Given the description of an element on the screen output the (x, y) to click on. 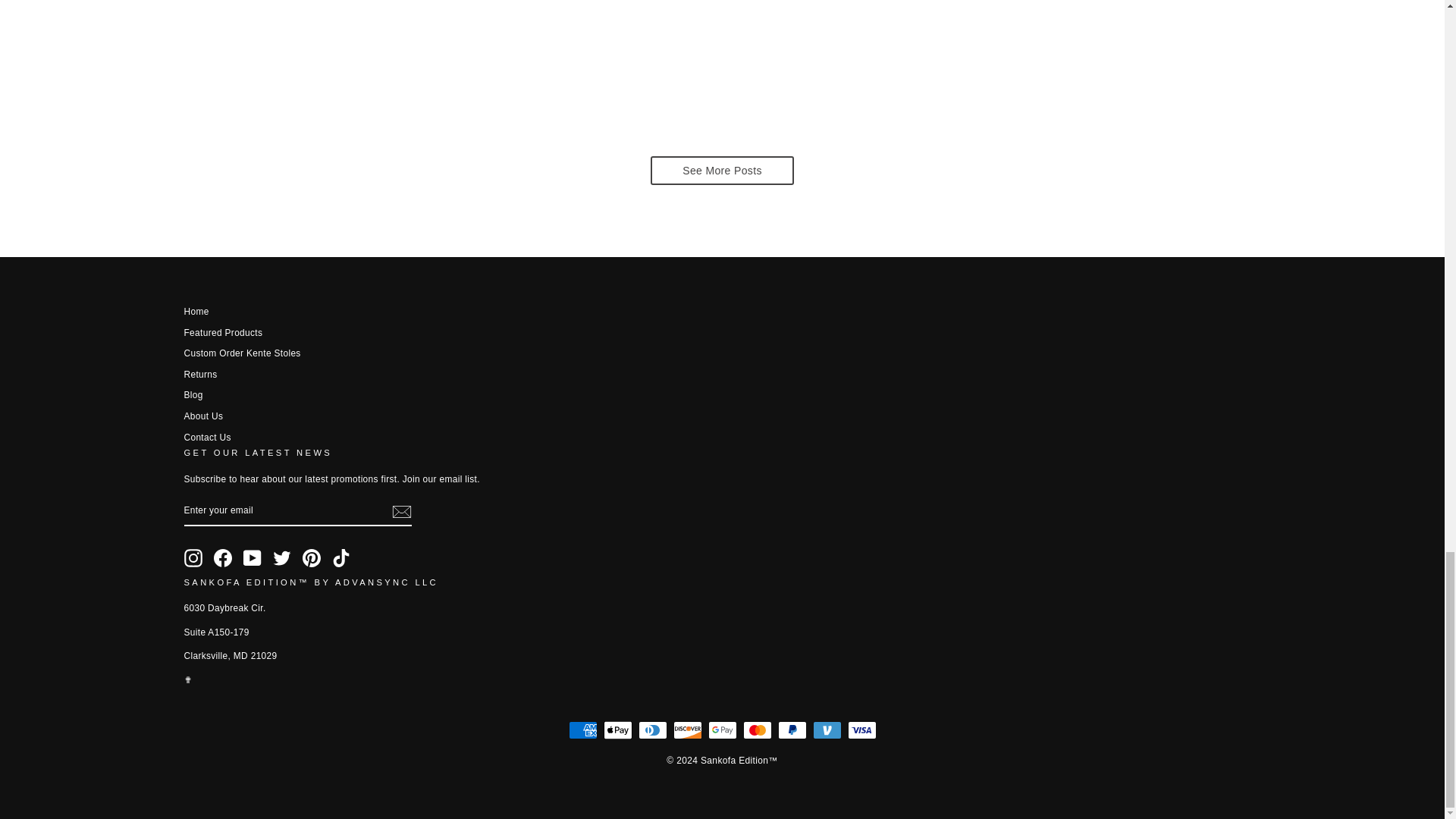
Diners Club (652, 730)
Discover (686, 730)
American Express (582, 730)
Apple Pay (617, 730)
PayPal (791, 730)
instagram (192, 557)
twitter (282, 557)
icon-email (400, 511)
Mastercard (756, 730)
Google Pay (721, 730)
